Given the description of an element on the screen output the (x, y) to click on. 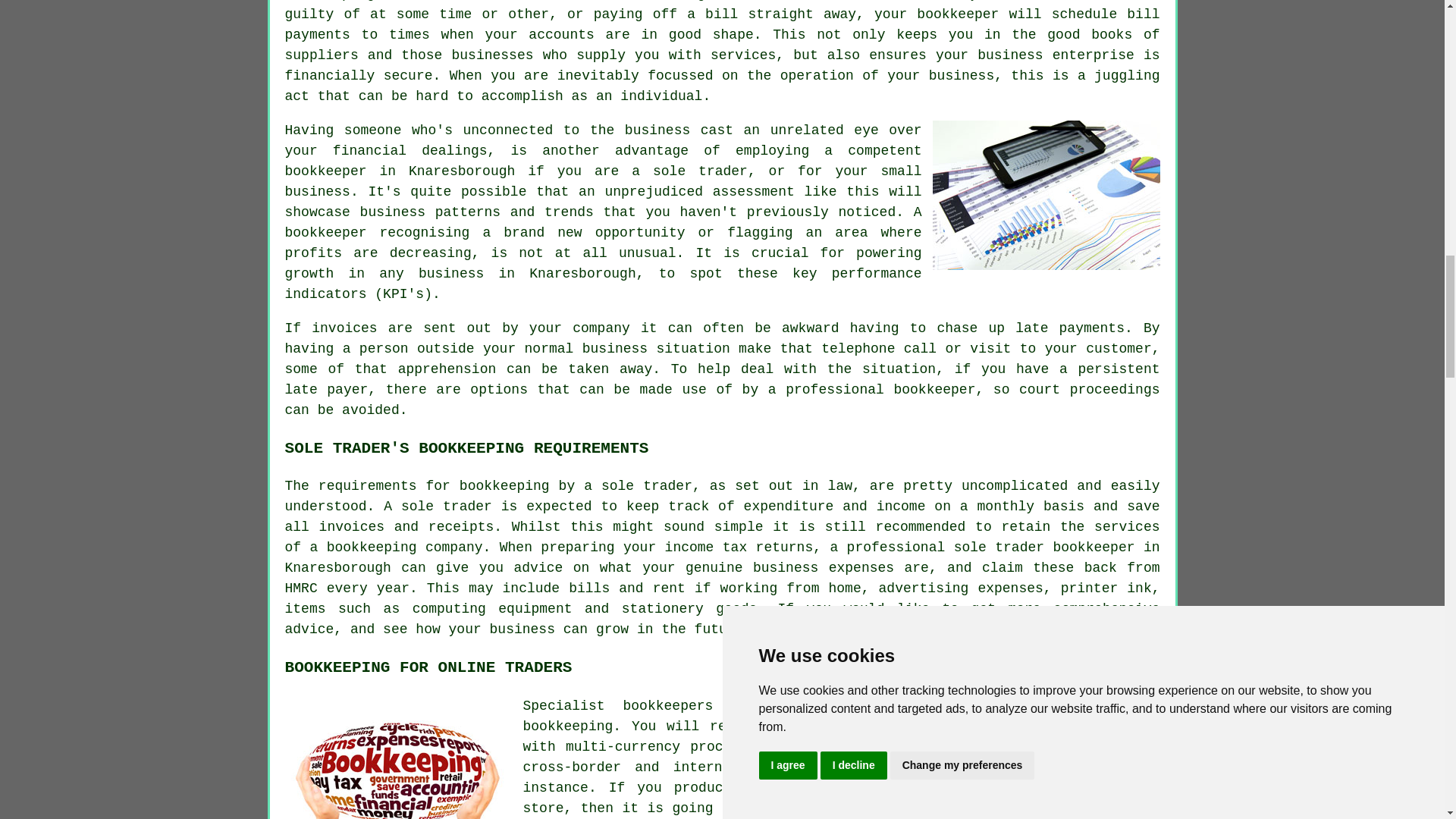
bookkeepers (668, 705)
Bookkeeper Near Knaresborough North Yorkshire (1046, 194)
Bookkeeping Services Knaresborough (398, 757)
